Given the description of an element on the screen output the (x, y) to click on. 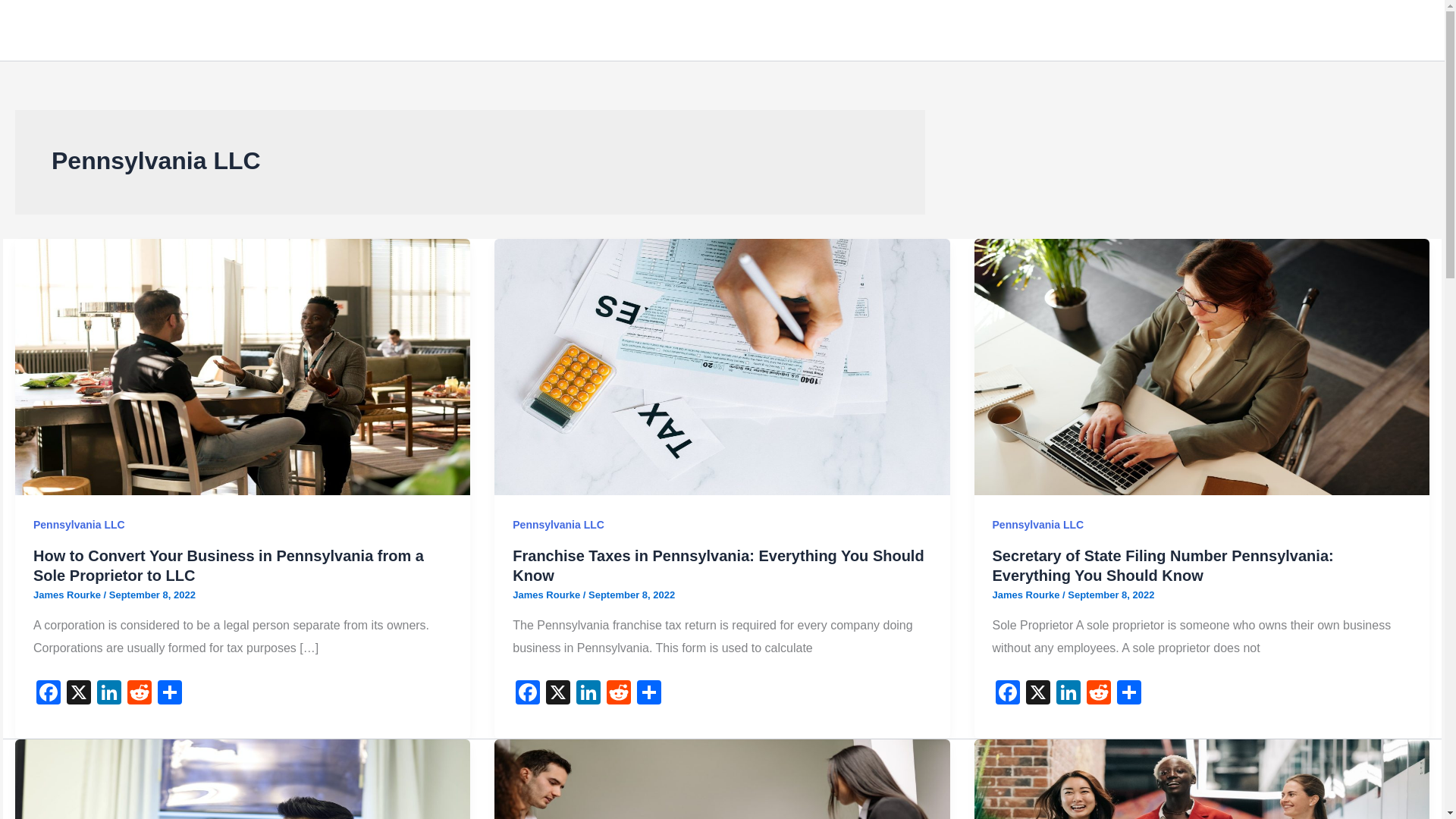
X (1037, 694)
Affiliate Disclosure (1283, 30)
Facebook (1007, 694)
LinkedIn (1067, 694)
Reddit (138, 694)
Facebook (48, 694)
Home (1018, 30)
Reddit (1098, 694)
Pennsylvania LLC (558, 524)
Reddit (618, 694)
LinkedIn (108, 694)
Pennsylvania LLC (79, 524)
View all posts by James Rourke (547, 594)
James Rourke (547, 594)
Privacy Policy (1096, 30)
